Given the description of an element on the screen output the (x, y) to click on. 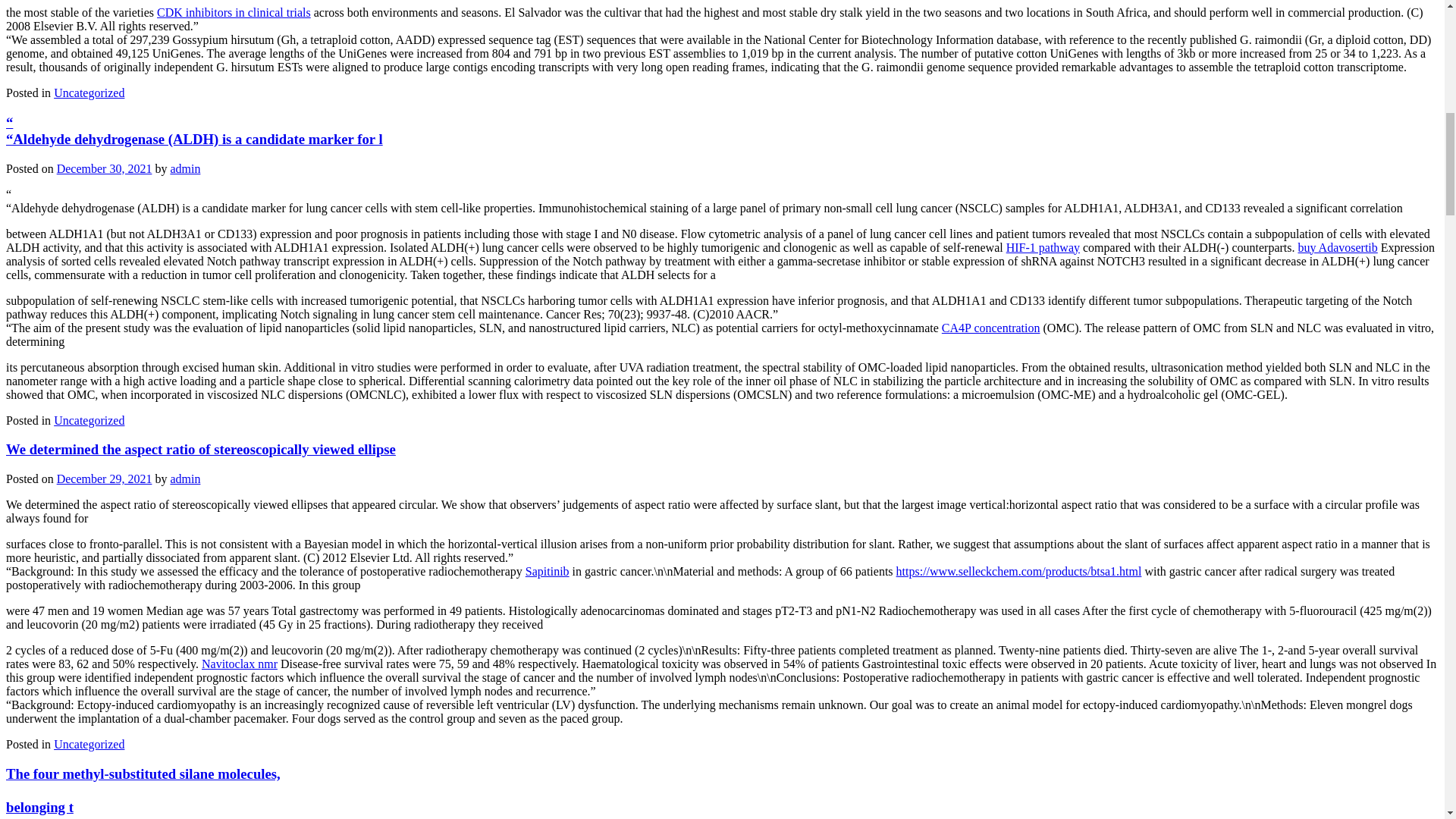
Sapitinib (547, 571)
Uncategorized (88, 92)
CDK inhibitors in clinical trials (234, 11)
admin (185, 478)
December 30, 2021 (104, 168)
buy Adavosertib (1337, 246)
View all posts by admin (185, 168)
Uncategorized (88, 744)
9:34 am (104, 478)
